Given the description of an element on the screen output the (x, y) to click on. 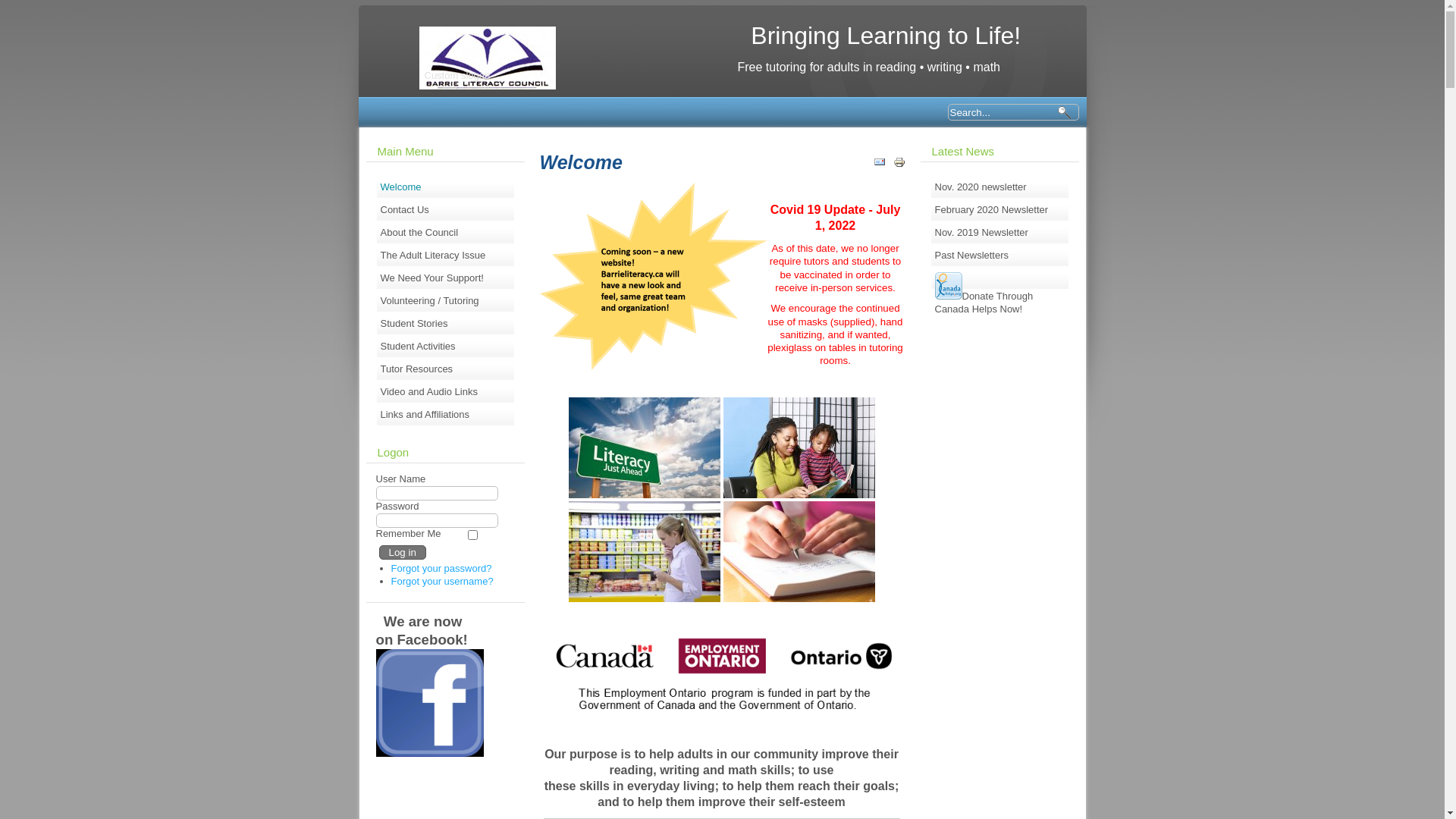
Forgot your username? Element type: text (442, 580)
Past Newsletters Element type: text (998, 255)
We Need Your Support! Element type: text (445, 277)
Log in Element type: text (402, 552)
Student Activities Element type: text (445, 346)
Student Stories Element type: text (445, 323)
Volunteering / Tutoring Element type: text (445, 300)
Print Element type: hover (899, 164)
Tutor Resources Element type: text (445, 368)
Nov. 2020 newsletter Element type: text (998, 186)
Video and Audio Links Element type: text (445, 391)
Forgot your password? Element type: text (441, 568)
About the Council Element type: text (445, 232)
Nov. 2019 Newsletter Element type: text (998, 232)
The Adult Literacy Issue Element type: text (445, 255)
Donate Through Canada Helps Now! Element type: text (998, 277)
Welcome Element type: text (445, 186)
February 2020 Newsletter Element type: text (998, 209)
Email Element type: hover (879, 164)
Contact Us Element type: text (445, 209)
Links and Affiliations Element type: text (445, 414)
